Given the description of an element on the screen output the (x, y) to click on. 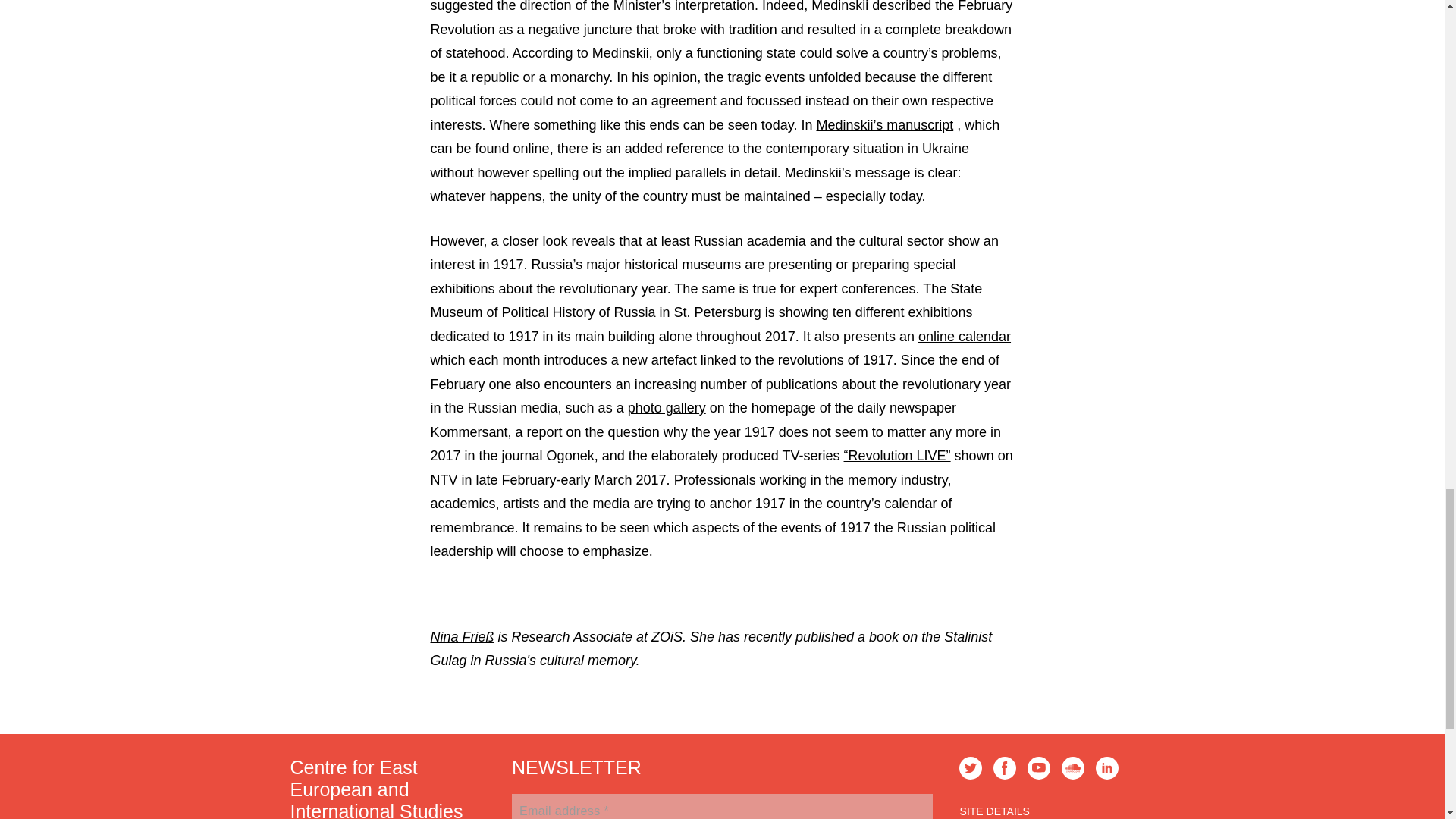
Opens internal link in current window (666, 407)
Opens internal link in current window (897, 455)
Opens internal link in current window (964, 336)
Opens internal link in current window (546, 432)
Opens internal link in current window (884, 124)
